Given the description of an element on the screen output the (x, y) to click on. 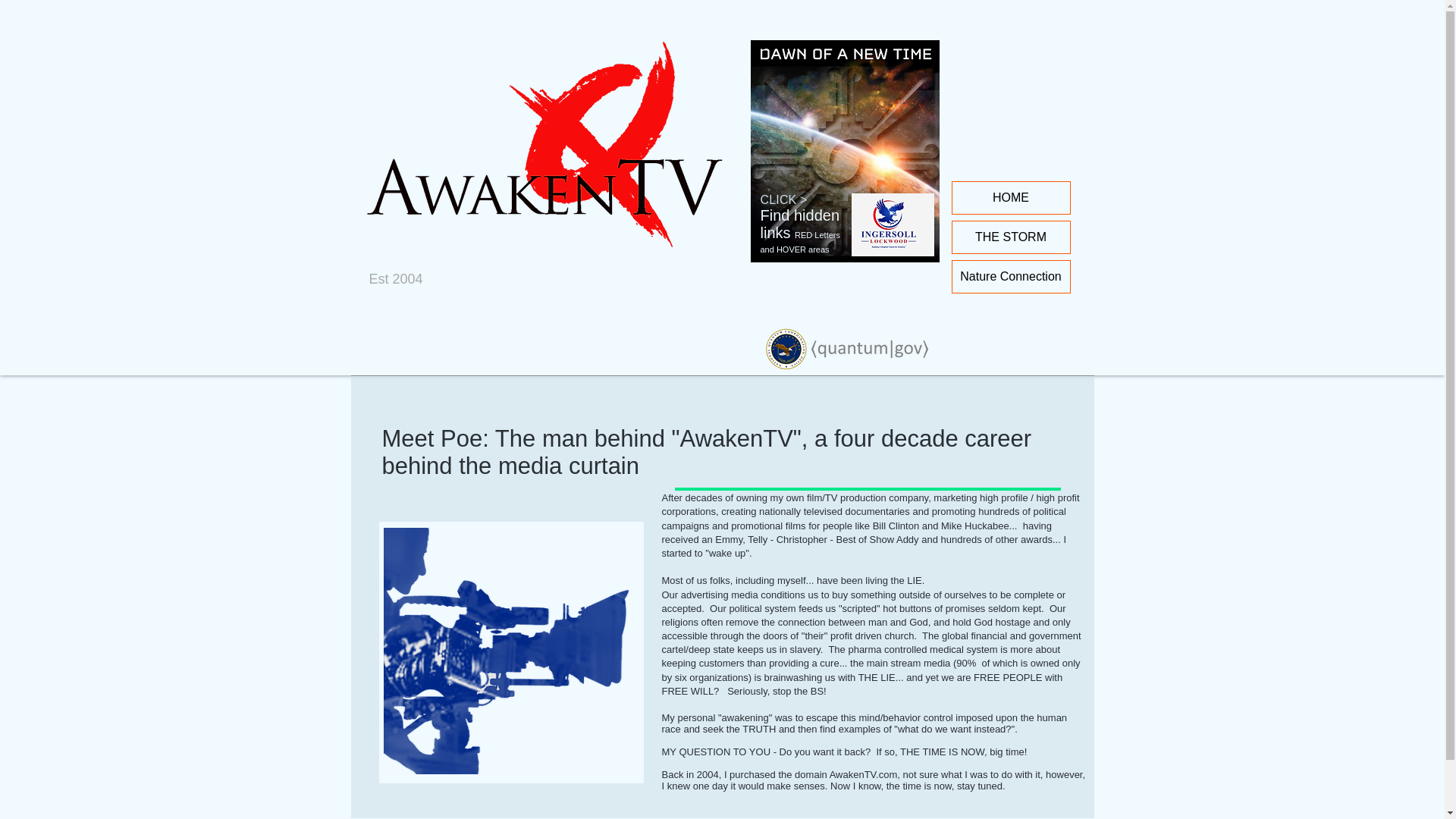
AwakenTV-logo.png (557, 154)
THE STORM (1011, 237)
HOME (1011, 197)
Nature Connection (1011, 276)
